Given the description of an element on the screen output the (x, y) to click on. 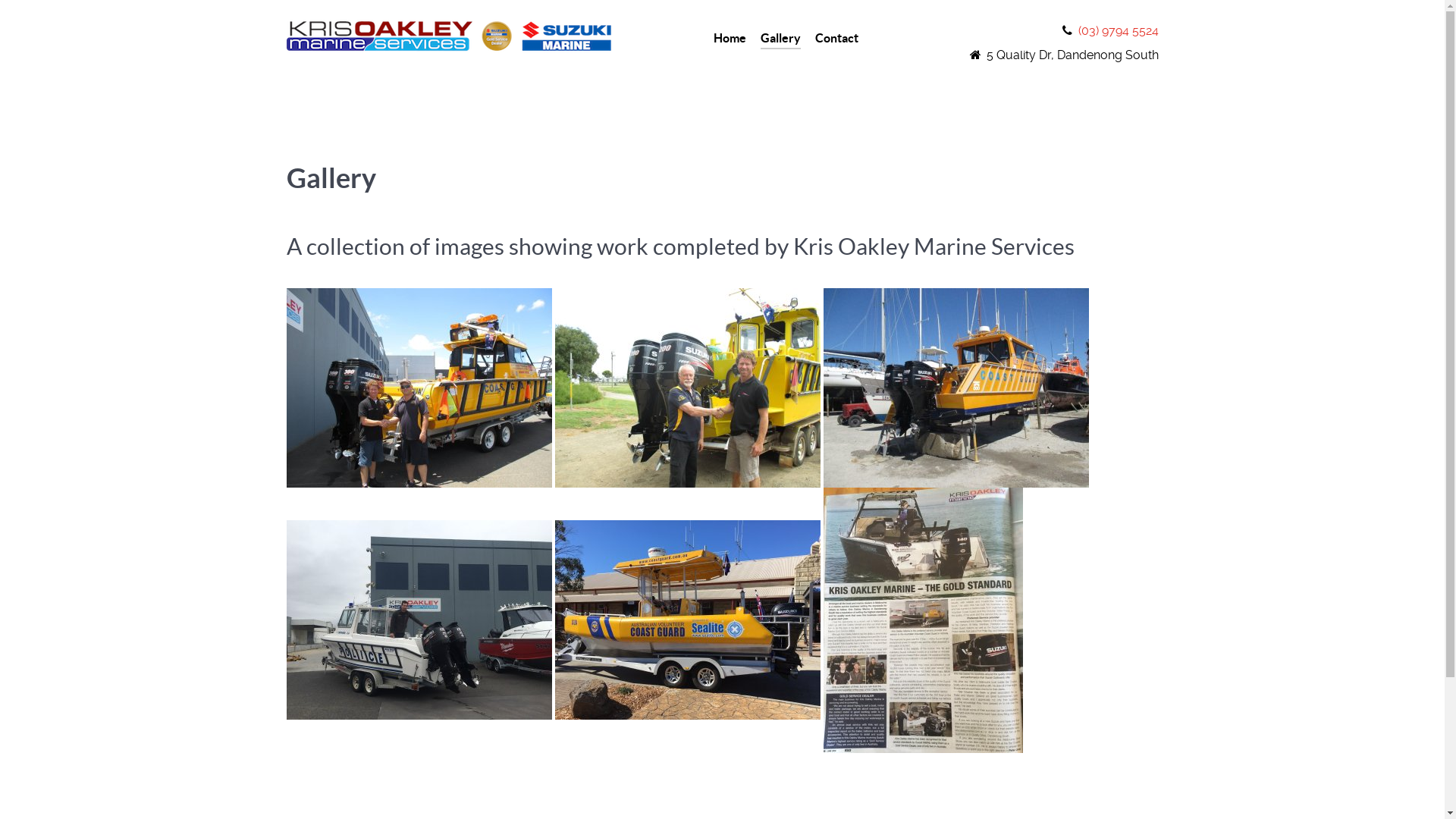
(03) 9794 5524 Element type: text (1118, 30)
Home Element type: text (729, 39)
Contact Element type: text (836, 39)
Gallery Element type: text (780, 39)
